Given the description of an element on the screen output the (x, y) to click on. 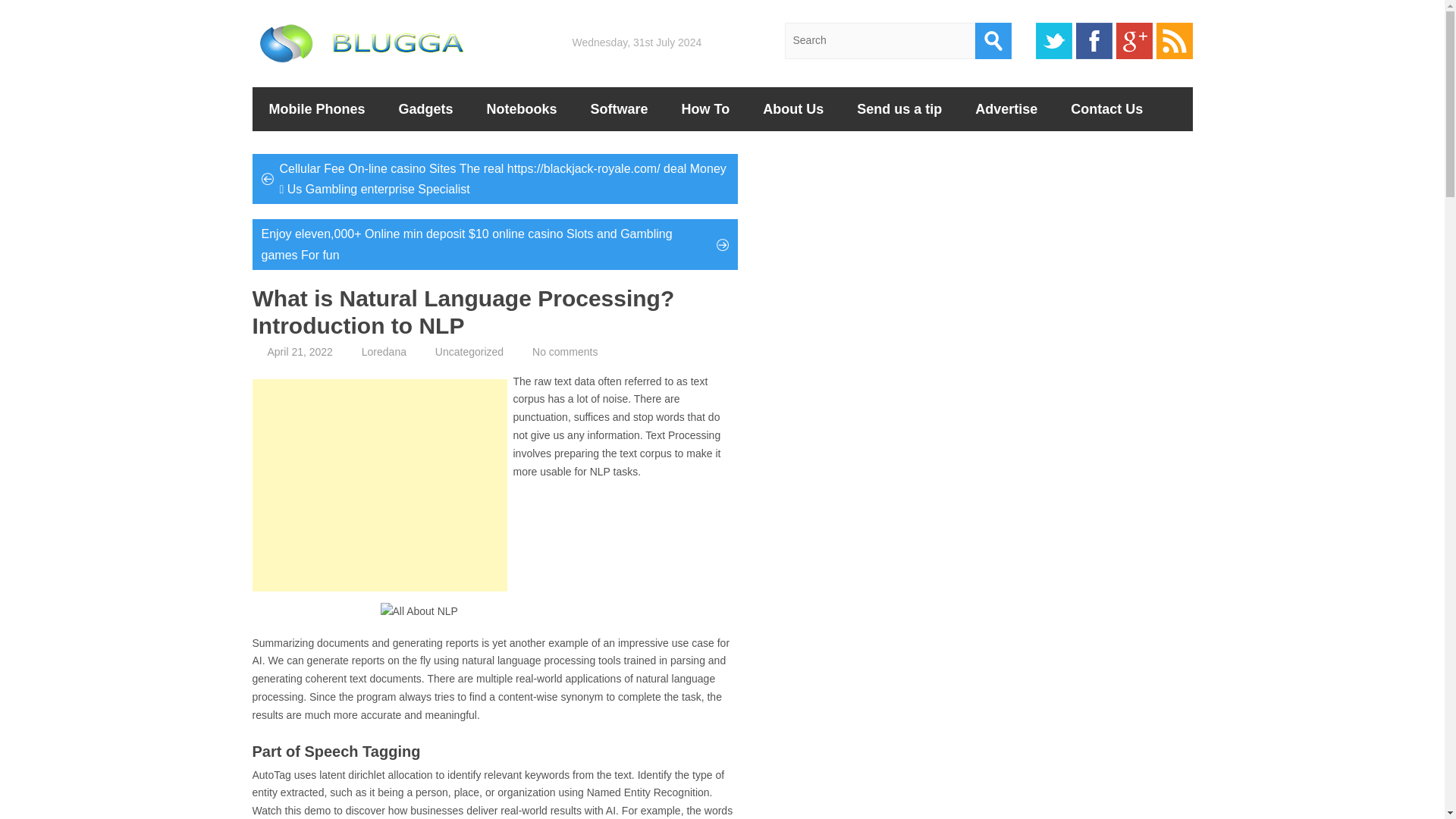
Advertise (1006, 108)
Send us a tip (899, 108)
Gadgets (425, 108)
No comments (564, 351)
Software (619, 108)
Search (993, 40)
Notebooks (521, 108)
Loredana (383, 351)
Mobile Phones (316, 108)
Facebook (1093, 40)
Posts by Loredana (383, 351)
Uncategorized (469, 351)
How To (705, 108)
RSS (1174, 40)
Twitter (1053, 40)
